Given the description of an element on the screen output the (x, y) to click on. 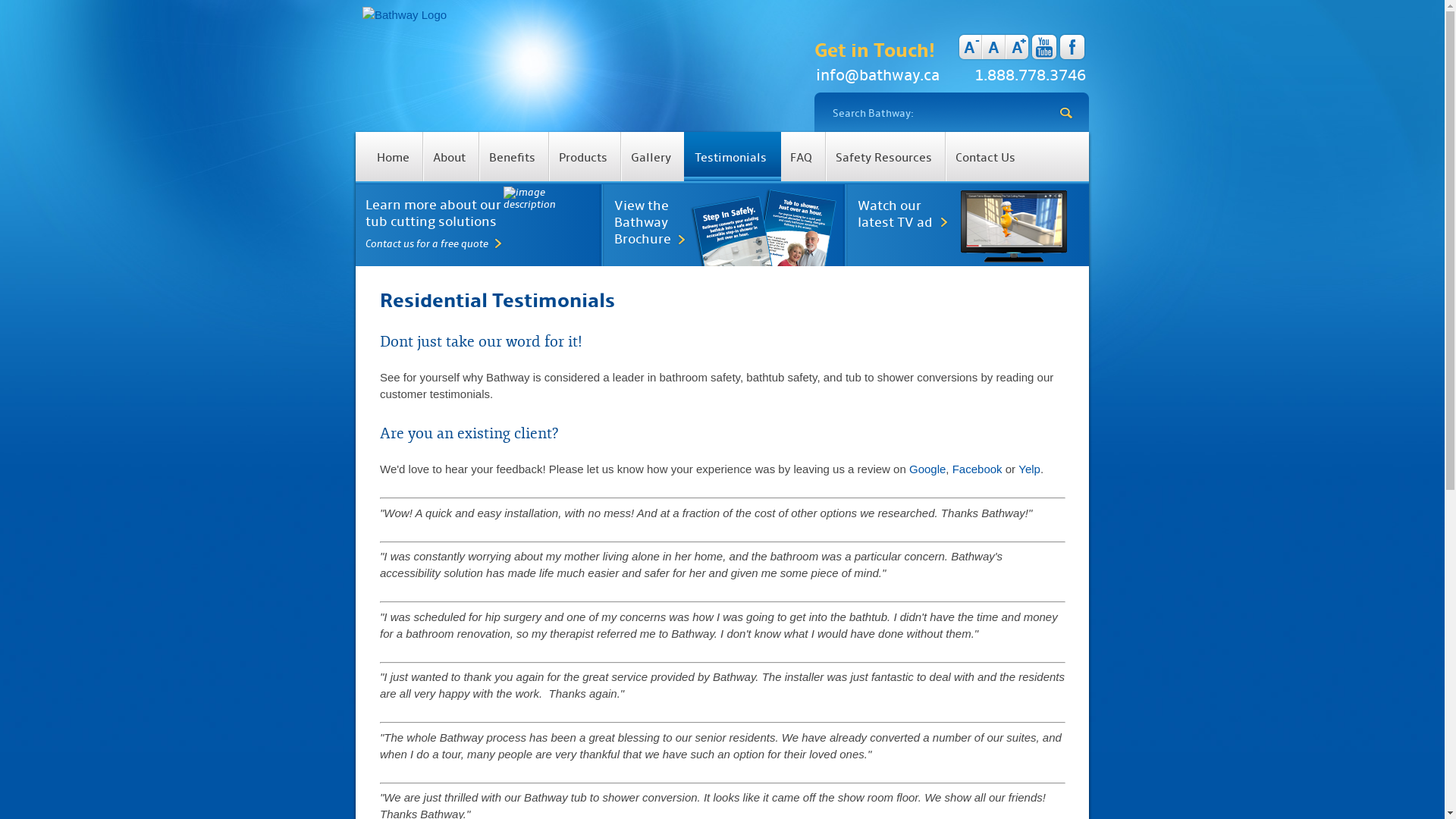
Facebook Element type: text (977, 468)
View the Bathway Brochure Element type: text (725, 222)
FAQ Element type: text (801, 156)
Home Element type: text (393, 156)
A Element type: text (993, 46)
1.888.778.3746 Element type: text (1029, 74)
youtube Element type: hover (1043, 46)
Yelp Element type: text (1029, 468)
Testimonials Element type: text (732, 156)
facebook Element type: hover (1071, 46)
A
+ Element type: text (1017, 46)
Safety Resources Element type: text (884, 156)
Watch our
latest TV ad Element type: text (969, 214)
Products Element type: text (583, 156)
Contact Us Element type: text (985, 156)
Benefits Element type: text (512, 156)
Google Element type: text (927, 468)
About Element type: text (449, 156)
A
- Element type: text (969, 46)
Gallery Element type: text (651, 156)
info@bathway.ca Element type: text (877, 74)
Bathway The tub cutting people Element type: hover (404, 14)
